Given the description of an element on the screen output the (x, y) to click on. 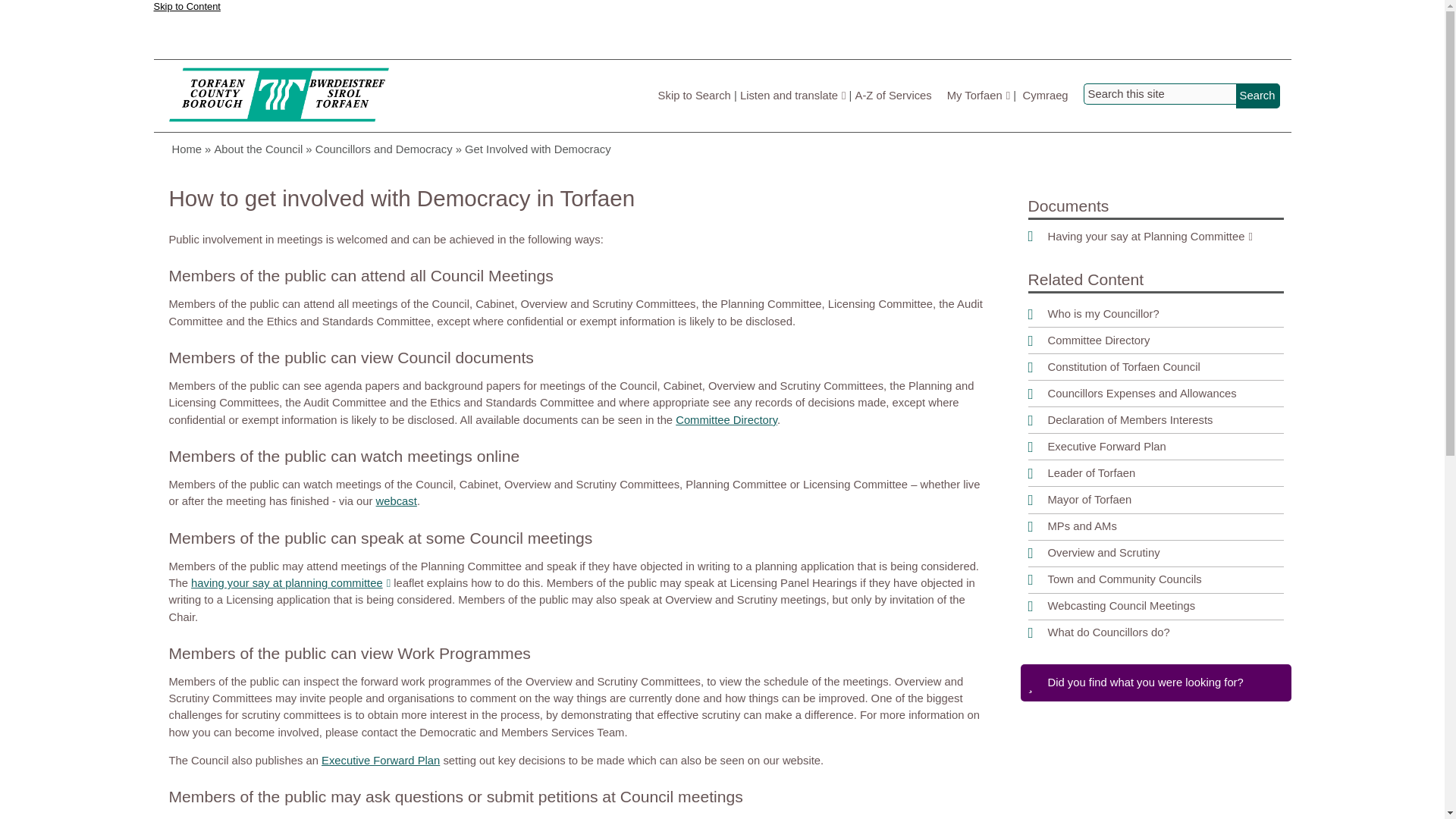
Home (279, 95)
Skip to Content (185, 11)
Search this site (1159, 93)
Having your say at Planning Committee (1155, 236)
Search (1257, 95)
having your say at planning committee (290, 582)
Skip to Content (185, 11)
View this website in Welsh (1045, 95)
Search (1257, 95)
Skip to Search (694, 95)
Cymraeg (1045, 95)
Search (1257, 95)
A-Z of Services (893, 95)
Search this site (1159, 93)
Skip to Search (694, 95)
